Given the description of an element on the screen output the (x, y) to click on. 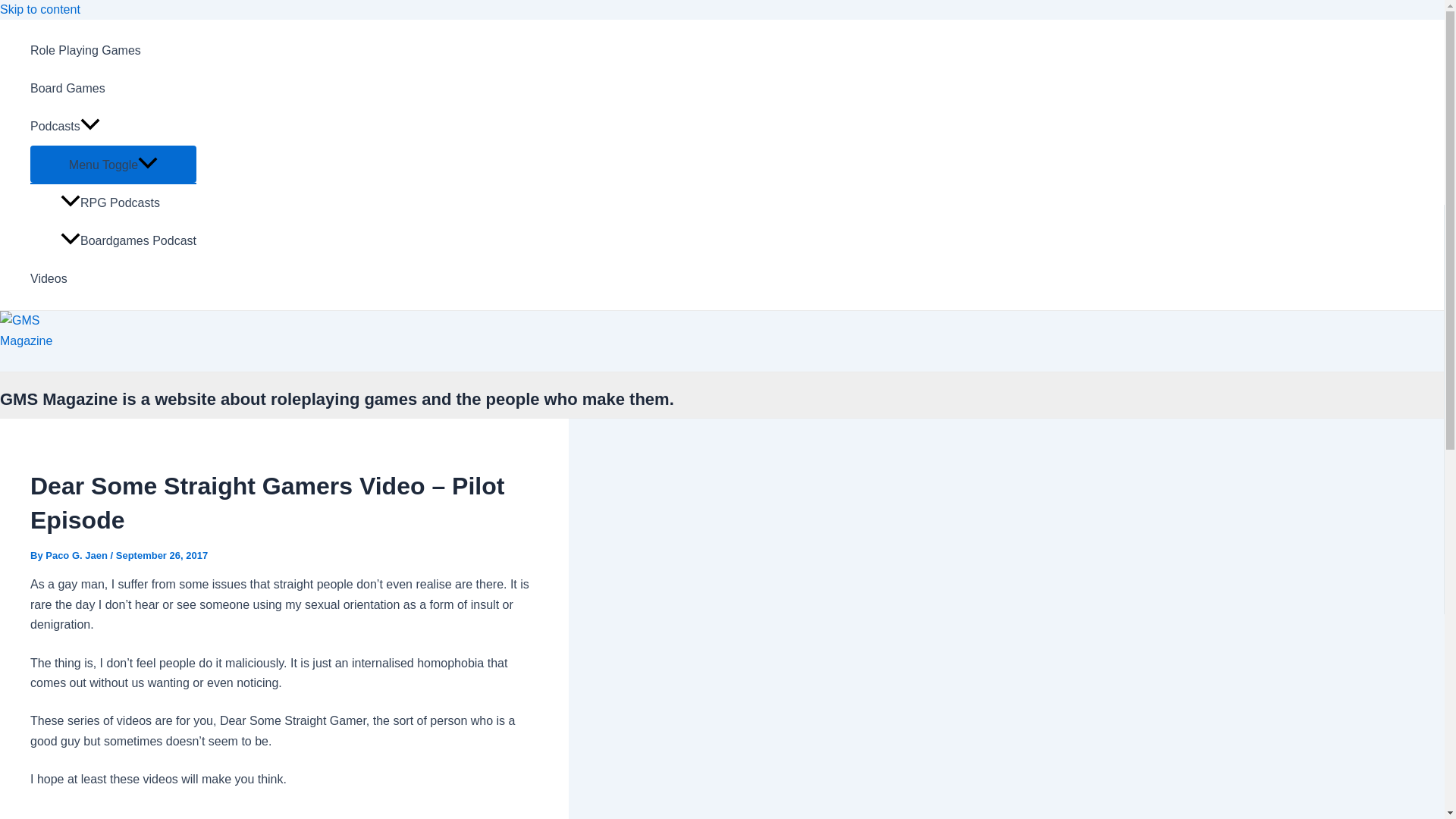
Podcasts (113, 126)
Paco G. Jaen (77, 555)
Boardgames Podcast (128, 240)
Skip to content (40, 9)
View all posts by Paco G. Jaen (77, 555)
Menu Toggle (113, 163)
Board Games (113, 88)
Videos (113, 279)
Role Playing Games (113, 50)
Skip to content (40, 9)
RPG Podcasts (128, 202)
